Given the description of an element on the screen output the (x, y) to click on. 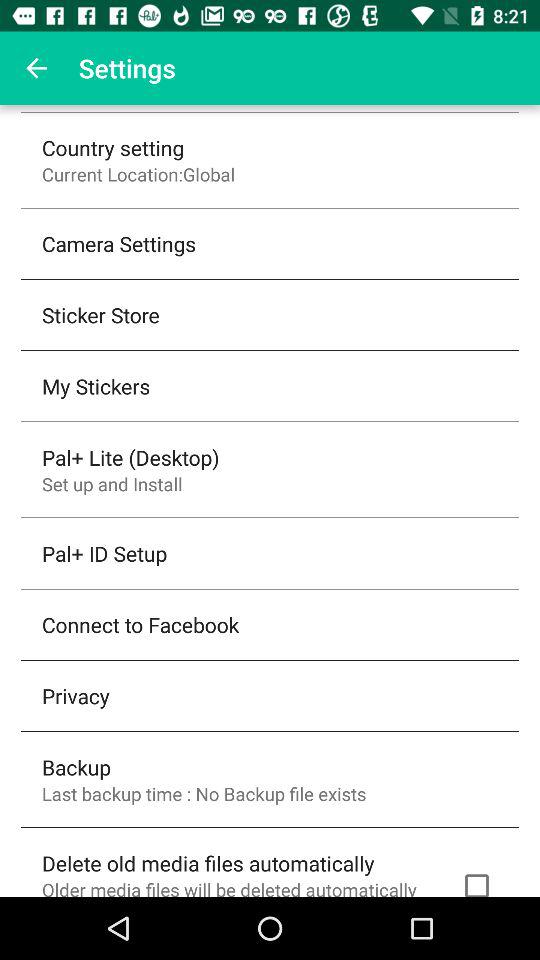
open the item below the pal+ id setup item (140, 624)
